Given the description of an element on the screen output the (x, y) to click on. 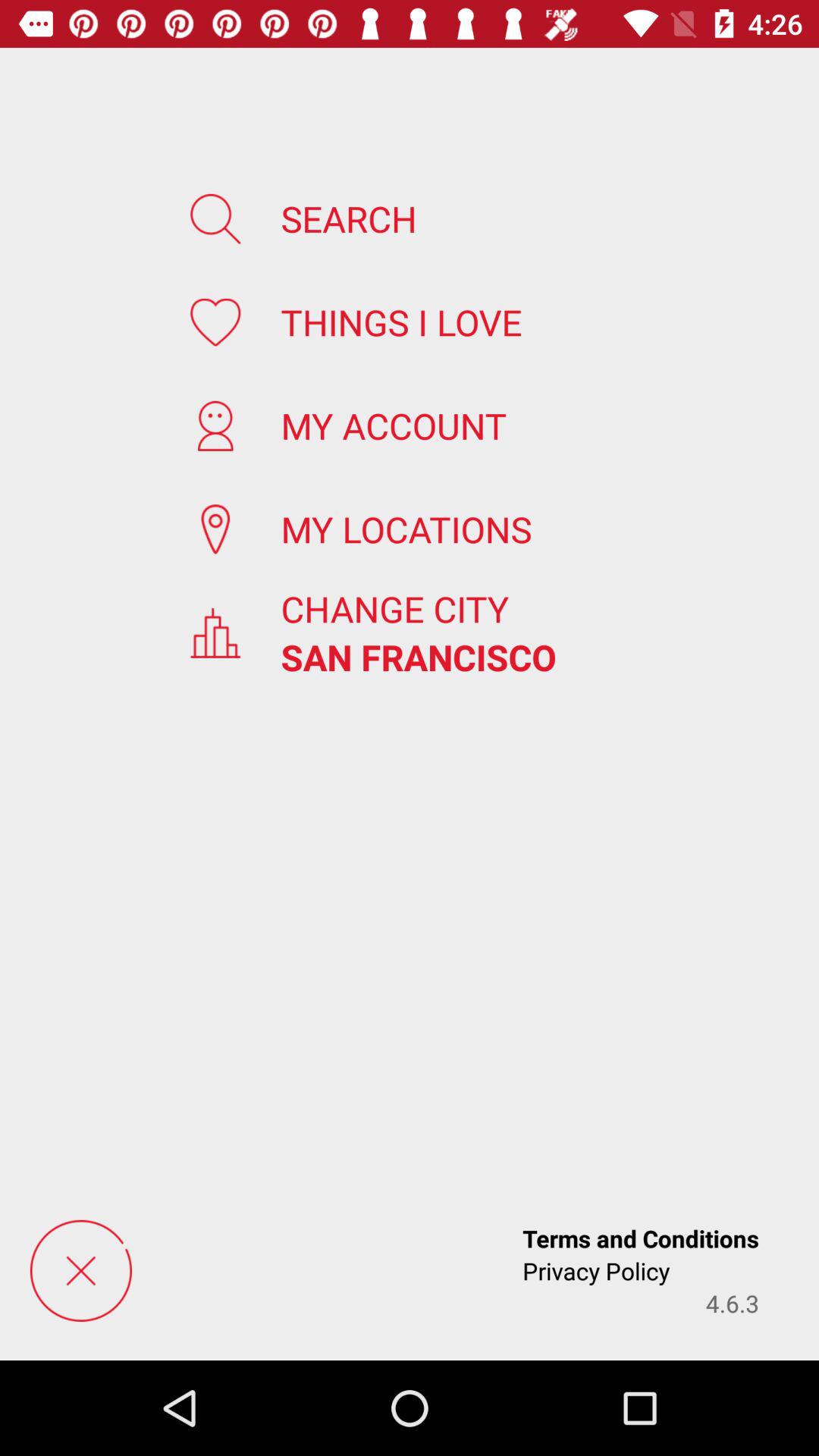
close menu (80, 1270)
